Given the description of an element on the screen output the (x, y) to click on. 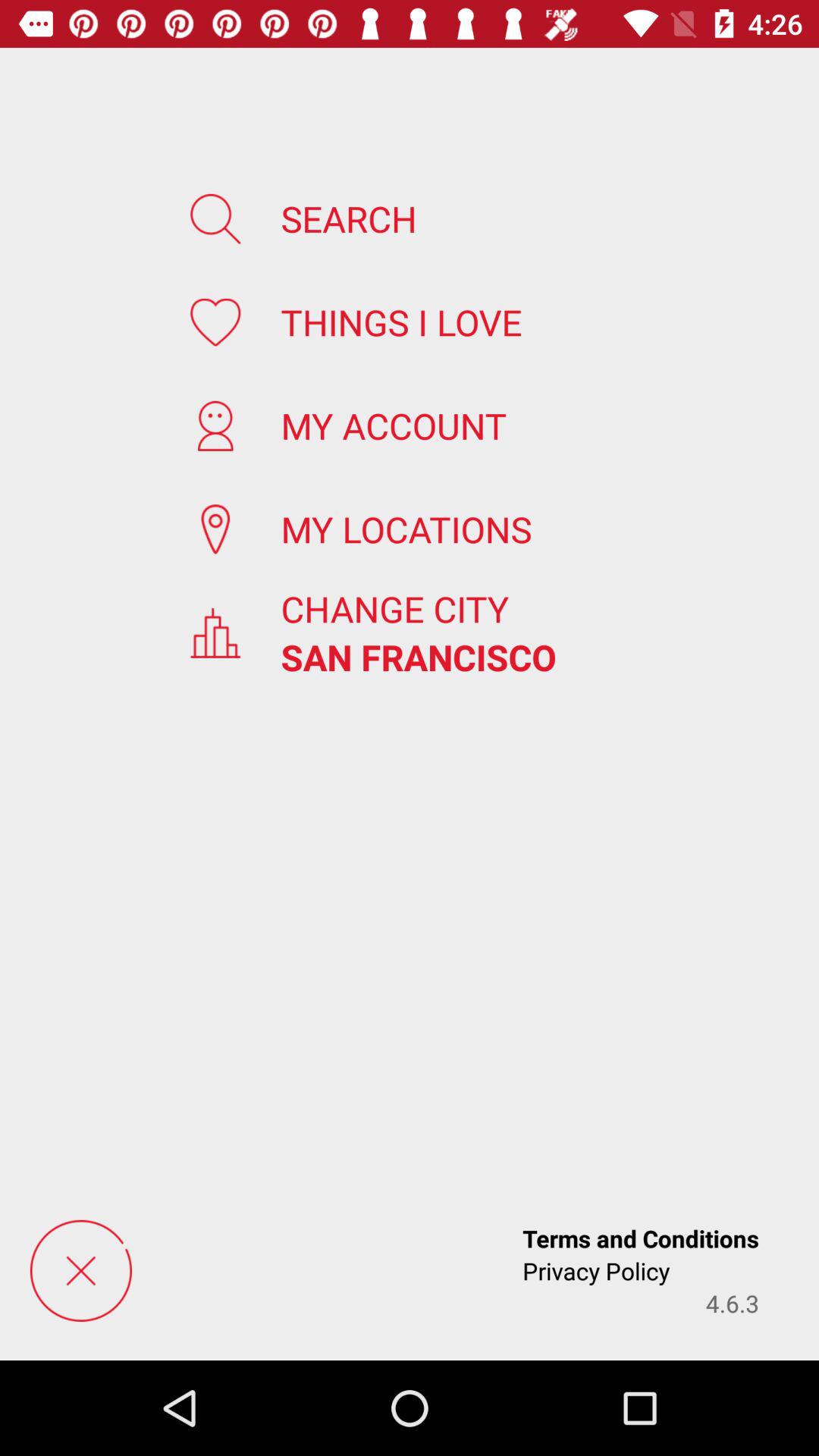
close menu (80, 1270)
